Given the description of an element on the screen output the (x, y) to click on. 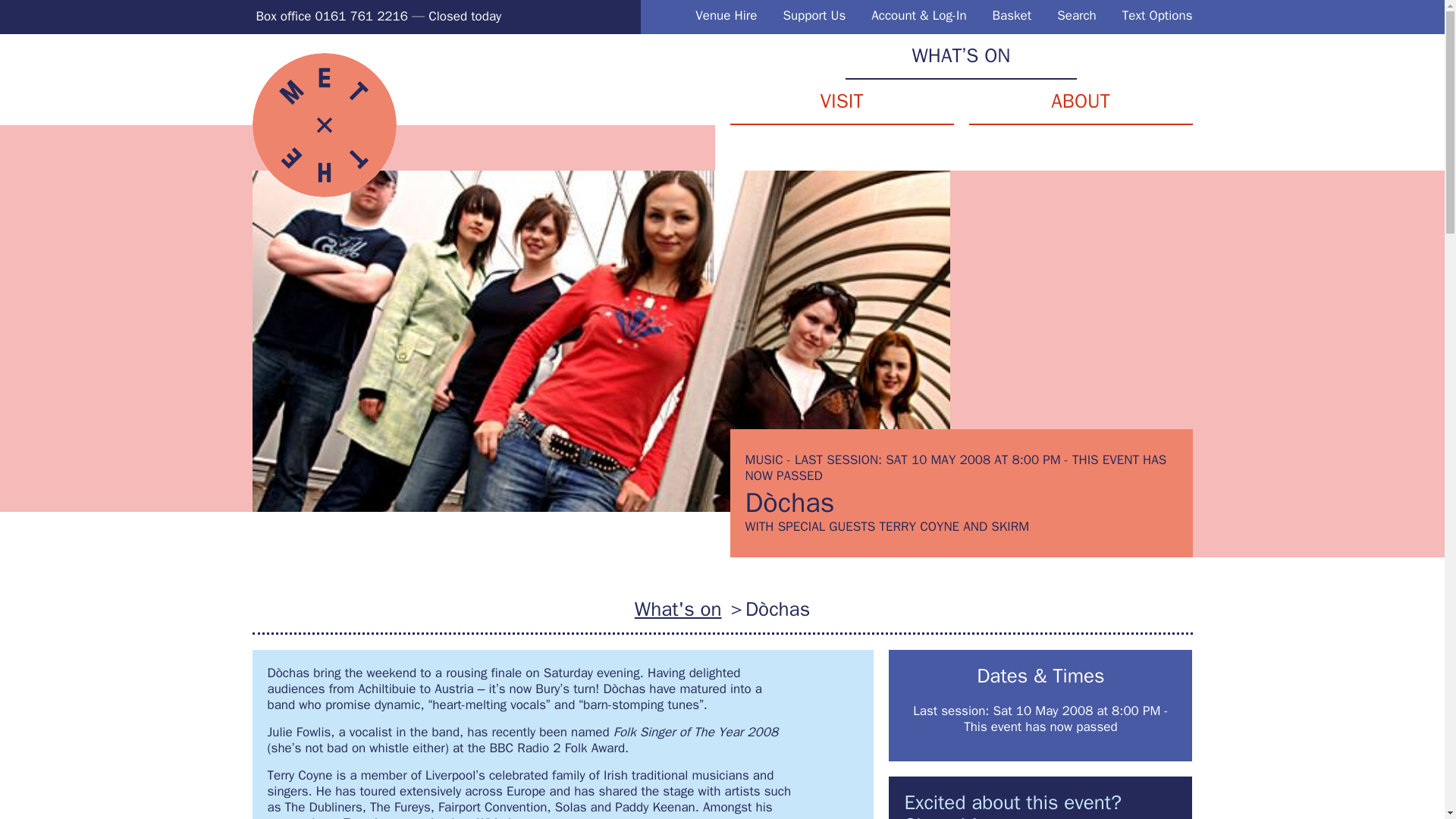
Text Options (1157, 15)
VISIT (841, 102)
Search (1076, 15)
Support Us (814, 15)
Box office 0161 761 2216 (331, 16)
Basket (1012, 15)
What's on (678, 609)
Venue Hire (726, 15)
ABOUT (1080, 102)
Closed today (464, 16)
